Given the description of an element on the screen output the (x, y) to click on. 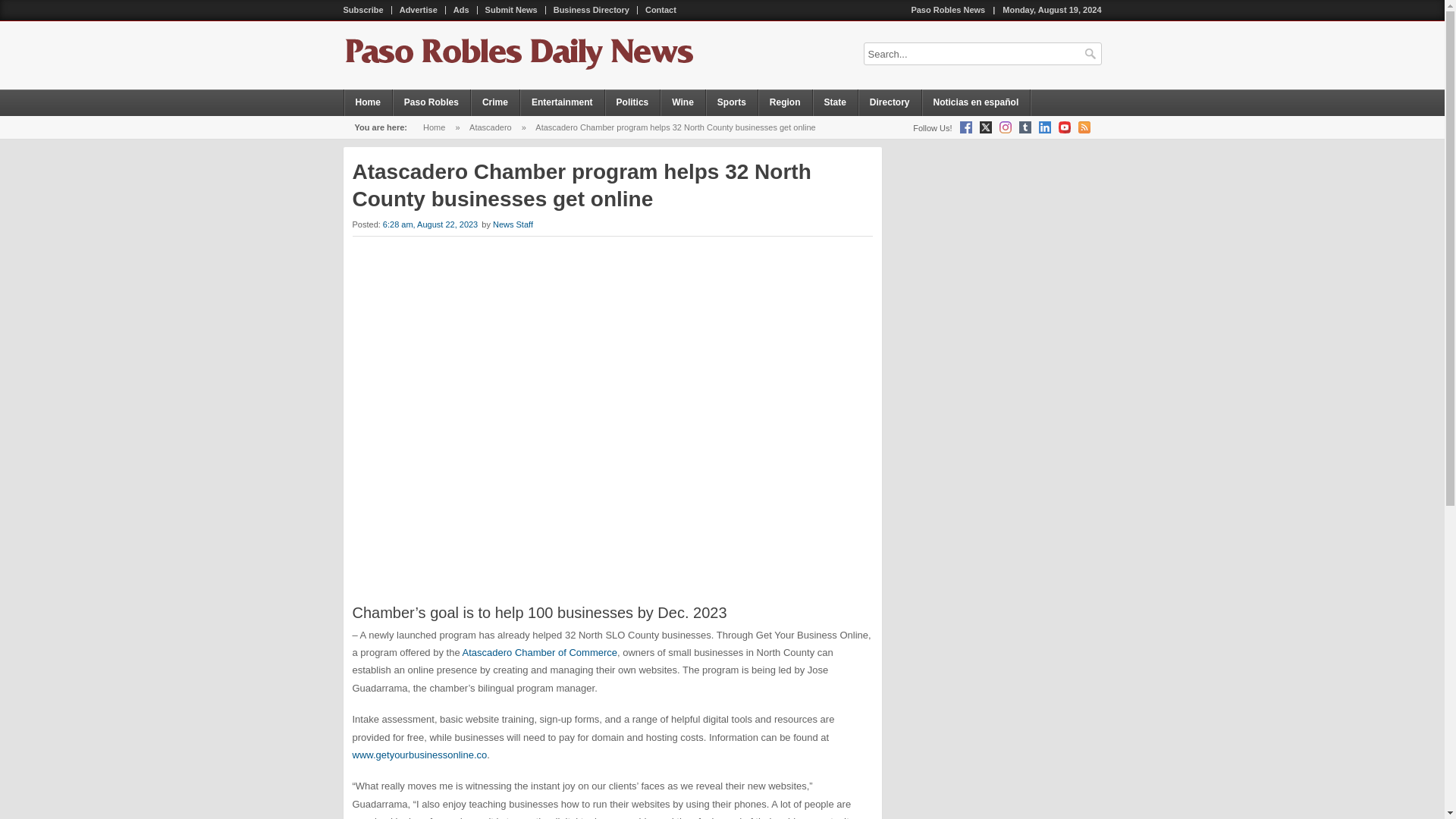
Business Directory (591, 9)
Home (434, 126)
Search... (981, 53)
Ads (461, 9)
Subscribe (362, 9)
Atascadero (490, 126)
Follow Us on X (985, 127)
Sports (732, 102)
Paso Robles Business Directory (591, 9)
Entertainment (562, 102)
